Given the description of an element on the screen output the (x, y) to click on. 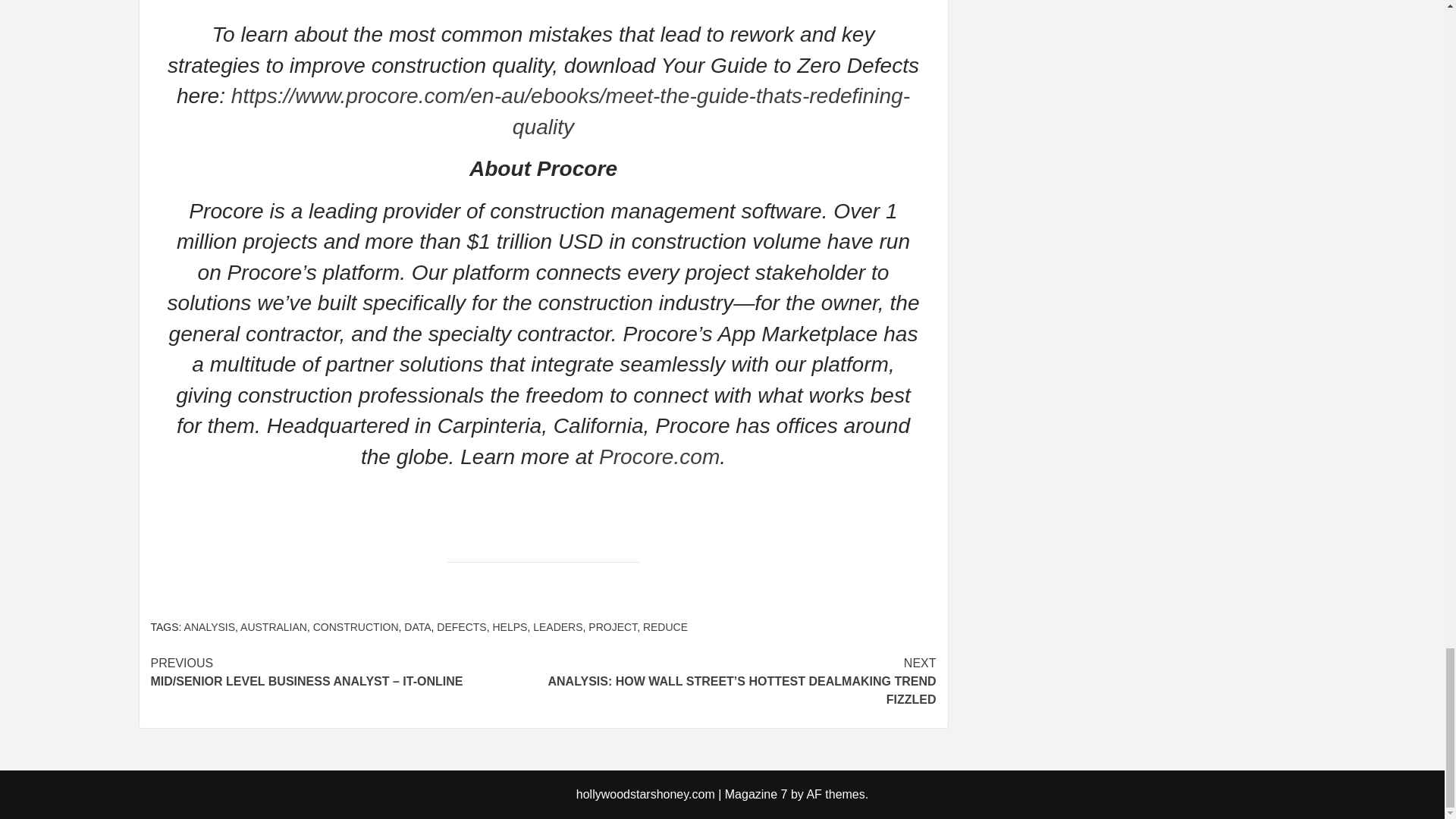
CONSTRUCTION (355, 626)
DATA (417, 626)
HELPS (509, 626)
ANALYSIS (209, 626)
REDUCE (665, 626)
LEADERS (557, 626)
PROJECT (612, 626)
DEFECTS (461, 626)
AUSTRALIAN (273, 626)
Procore.com (655, 456)
